Given the description of an element on the screen output the (x, y) to click on. 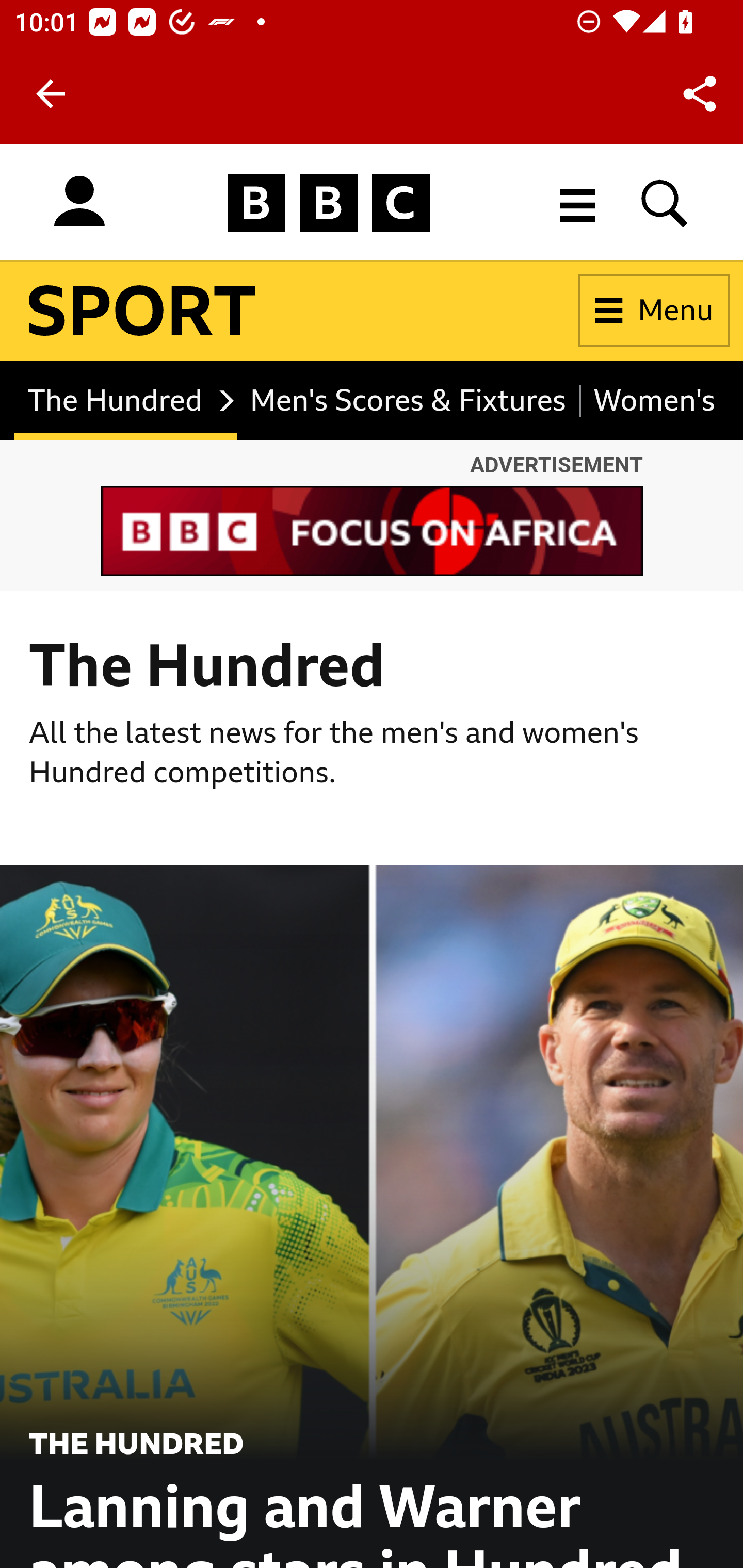
Back (50, 93)
Share (699, 93)
Sign in (79, 202)
BBC Homepage (329, 202)
More menu (578, 202)
Search BBC (665, 202)
BBC Sport (142, 311)
Menu (654, 311)
The Hundred (126, 400)
Men's Scores & Fixtures (408, 400)
Women's Scores & Fixtures (647, 400)
